Given the description of an element on the screen output the (x, y) to click on. 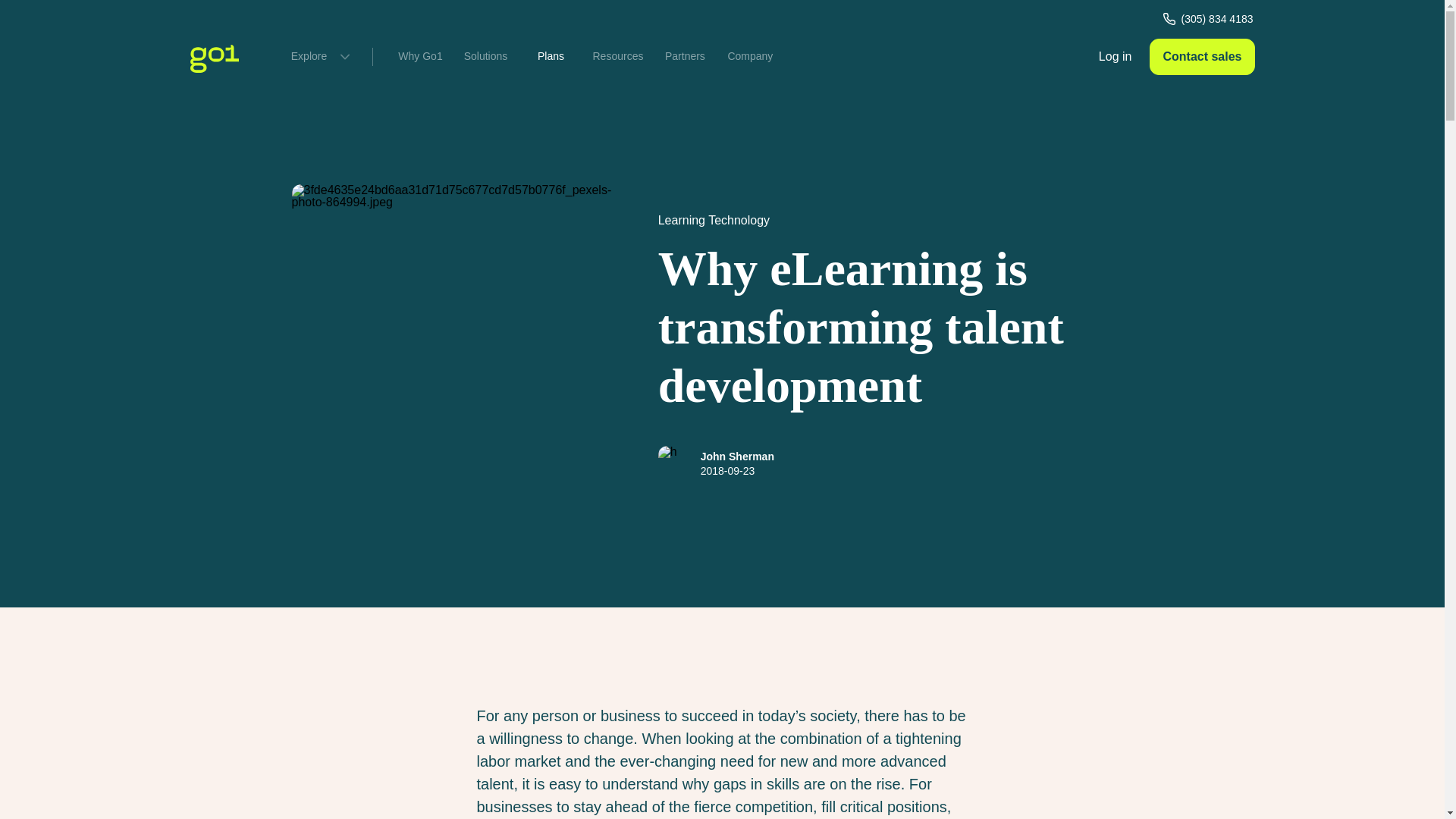
Explore (317, 56)
Partners (684, 56)
Learning Technology (714, 220)
Log in (1115, 56)
Contact sales (1201, 56)
Company (750, 56)
Solutions (485, 56)
Plans (550, 56)
Why Go1 (420, 56)
Resources (617, 56)
